Given the description of an element on the screen output the (x, y) to click on. 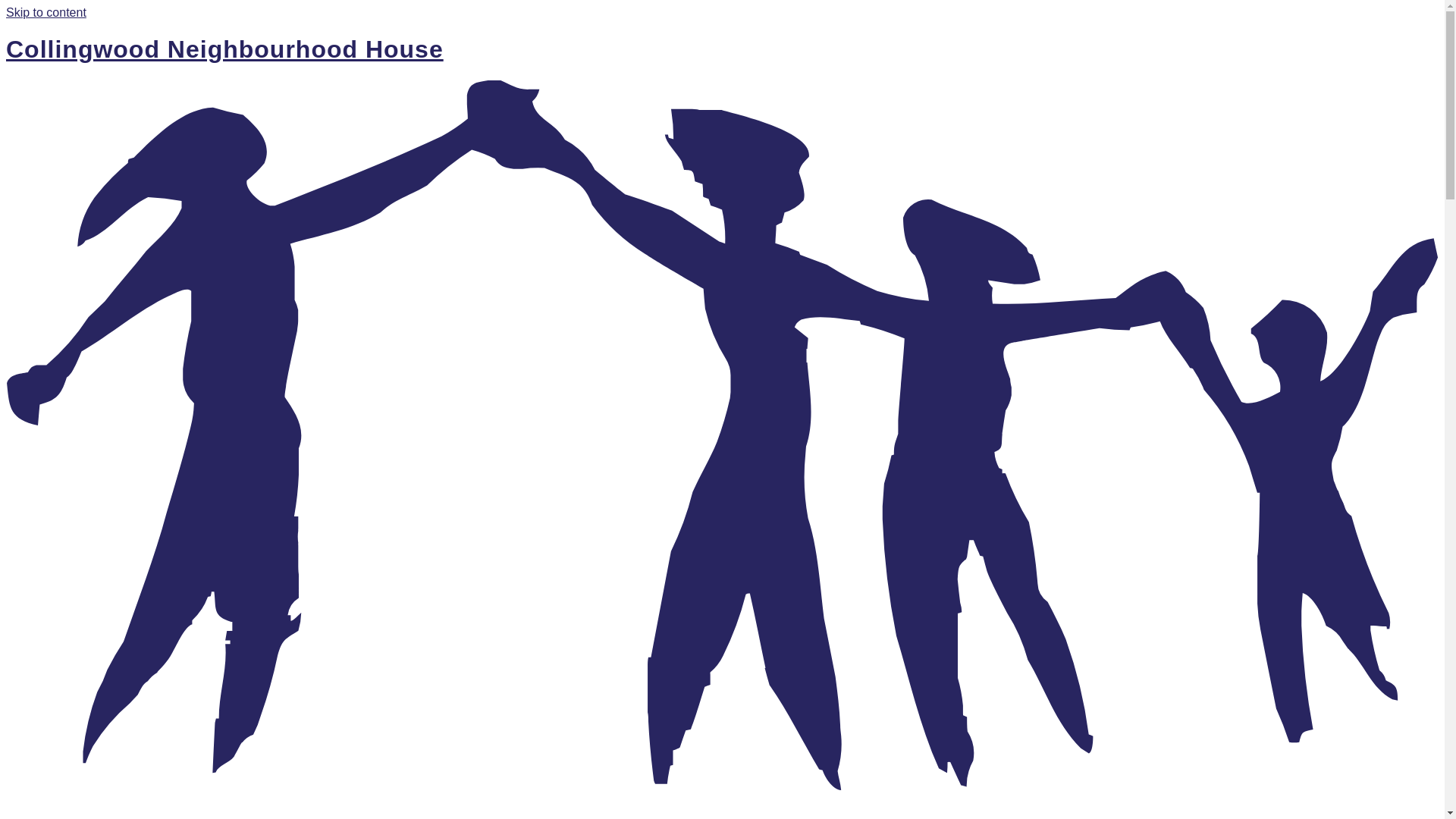
Skip to content Element type: text (46, 12)
Collingwood Neighbourhood House Element type: text (224, 48)
